Given the description of an element on the screen output the (x, y) to click on. 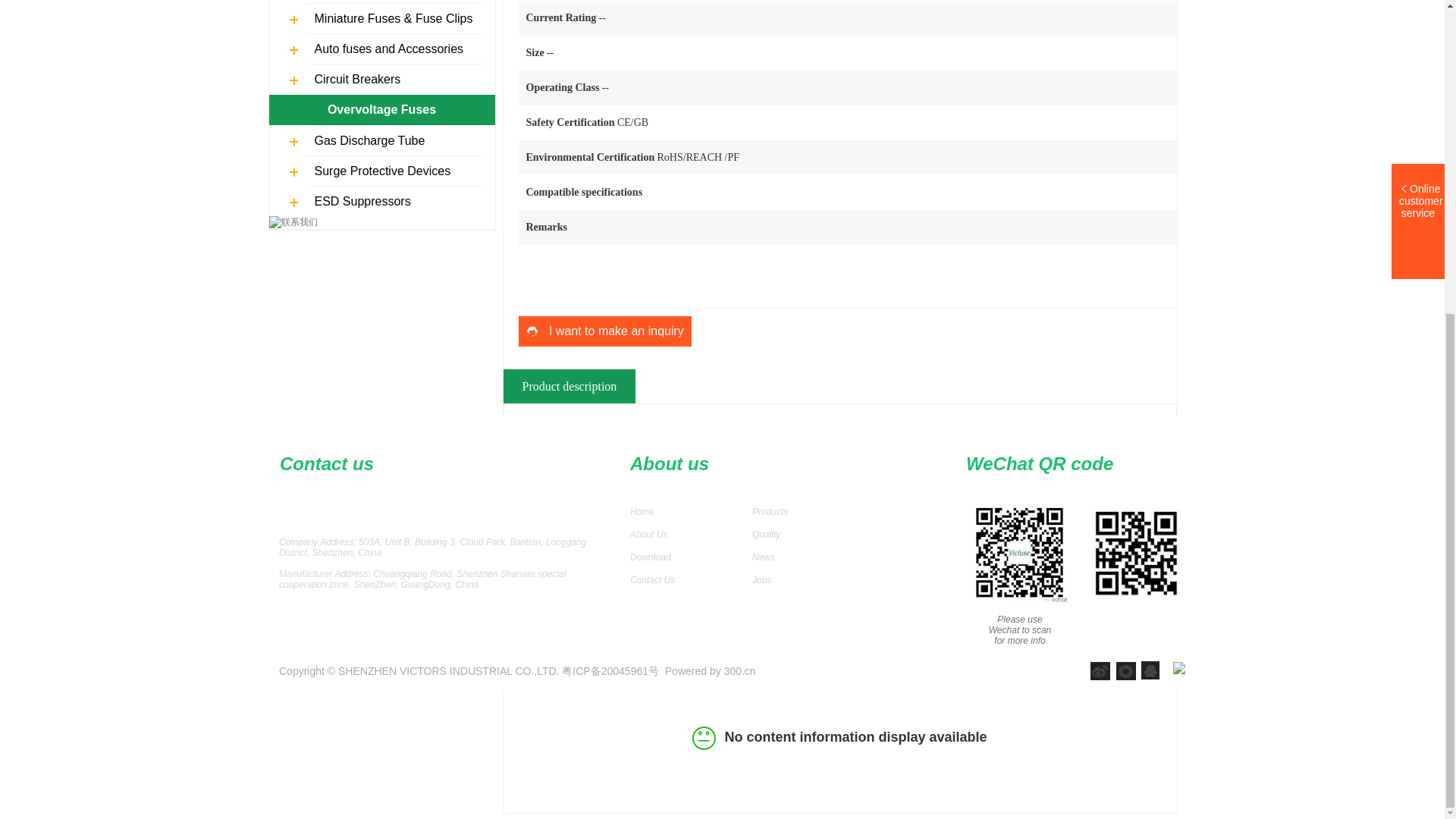
tupian (1099, 670)
Quality (766, 534)
Download (649, 557)
erweima (1019, 553)
tupian (1125, 670)
tupian (1179, 667)
Powered by 300.cn (710, 671)
Products (769, 511)
erweima (1135, 553)
Contact Us (652, 579)
Job (759, 579)
News (763, 557)
About Us (648, 534)
tupian (1149, 669)
Click to make an inquiry to enterprise now (604, 331)
